Given the description of an element on the screen output the (x, y) to click on. 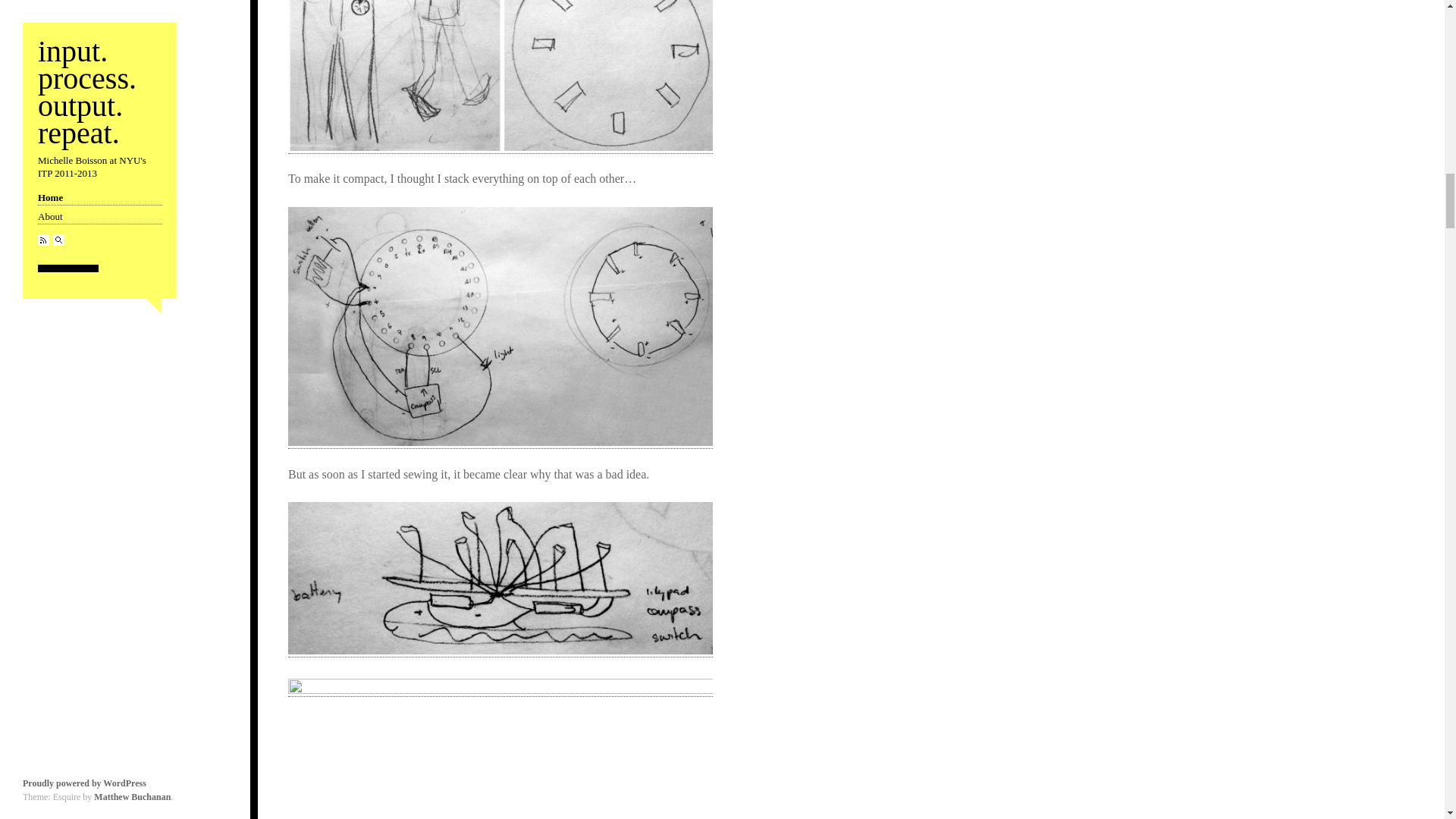
schematic (500, 326)
compass-look (500, 75)
